Given the description of an element on the screen output the (x, y) to click on. 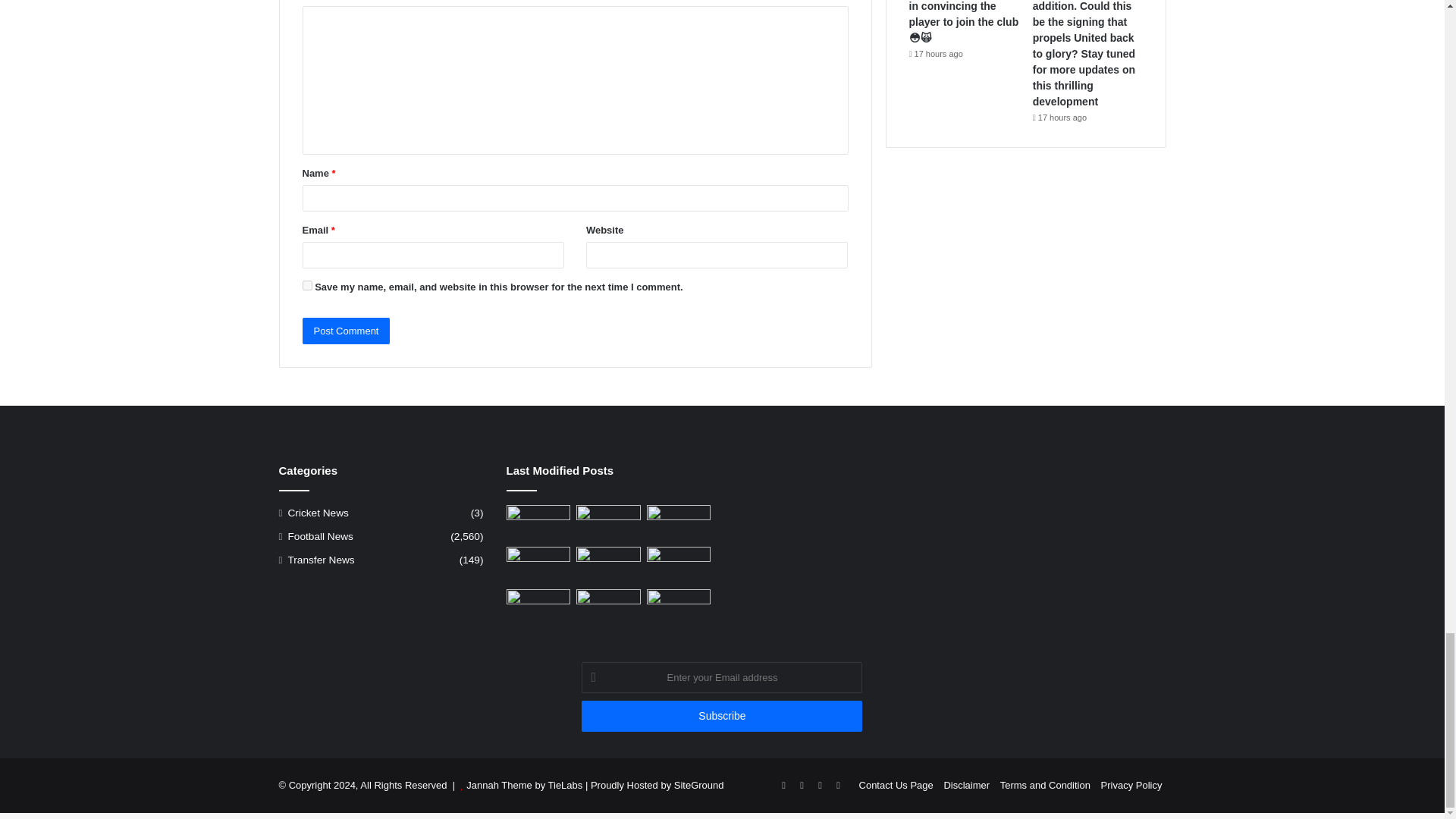
Subscribe (720, 716)
Post Comment (345, 330)
yes (306, 285)
